Given the description of an element on the screen output the (x, y) to click on. 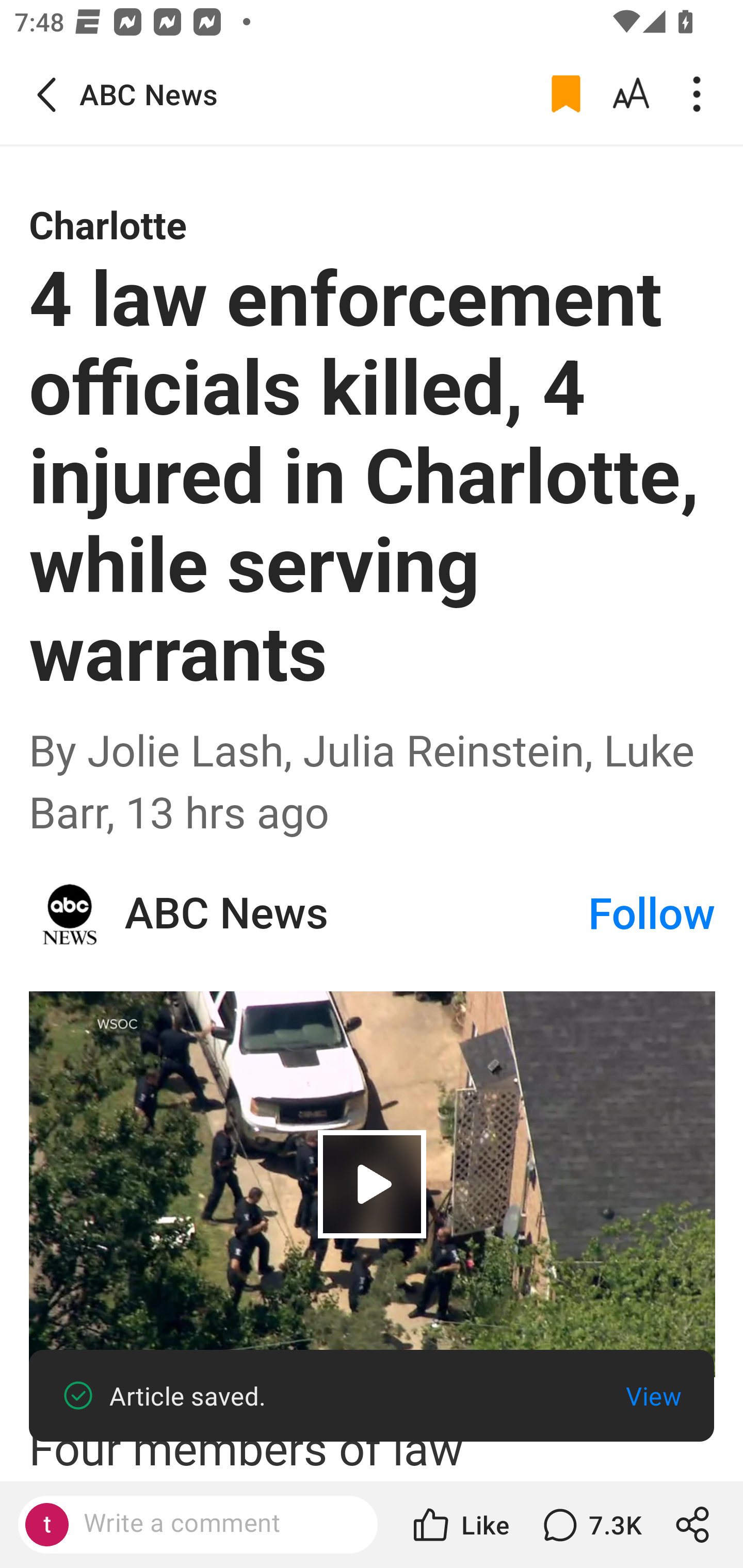
ABC (70, 913)
ABC News (355, 913)
Follow (651, 913)
Video (372, 1183)
View (653, 1395)
Like (459, 1524)
7.3K (589, 1524)
Write a comment (215, 1523)
